Given the description of an element on the screen output the (x, y) to click on. 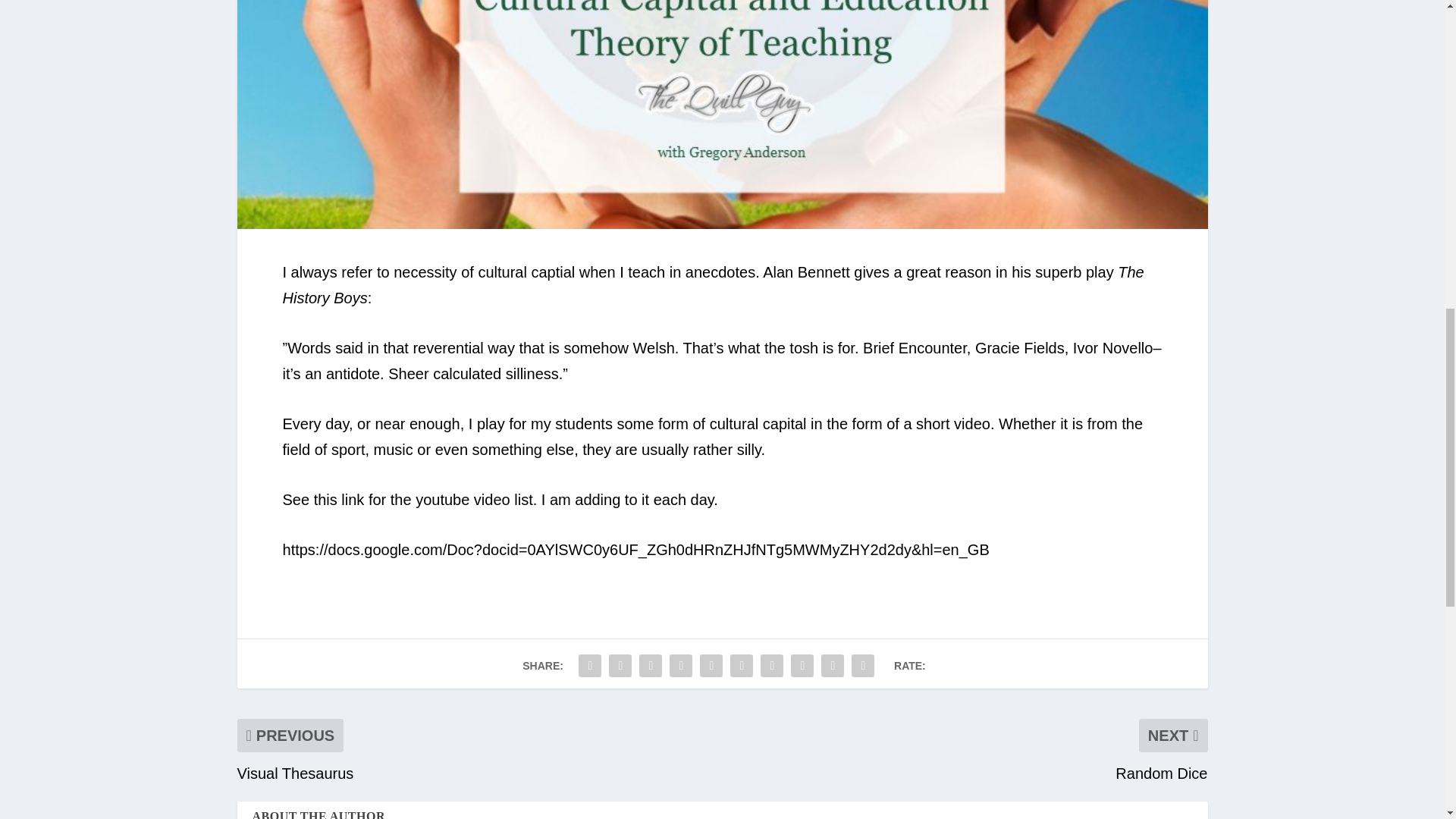
Share "Daily Cultural Capital" via Pinterest (710, 665)
Share "Daily Cultural Capital" via LinkedIn (741, 665)
Share "Daily Cultural Capital" via Tumblr (680, 665)
Share "Daily Cultural Capital" via Stumbleupon (801, 665)
Share "Daily Cultural Capital" via Twitter (619, 665)
Share "Daily Cultural Capital" via Buffer (772, 665)
Share "Daily Cultural Capital" via Facebook (590, 665)
